Given the description of an element on the screen output the (x, y) to click on. 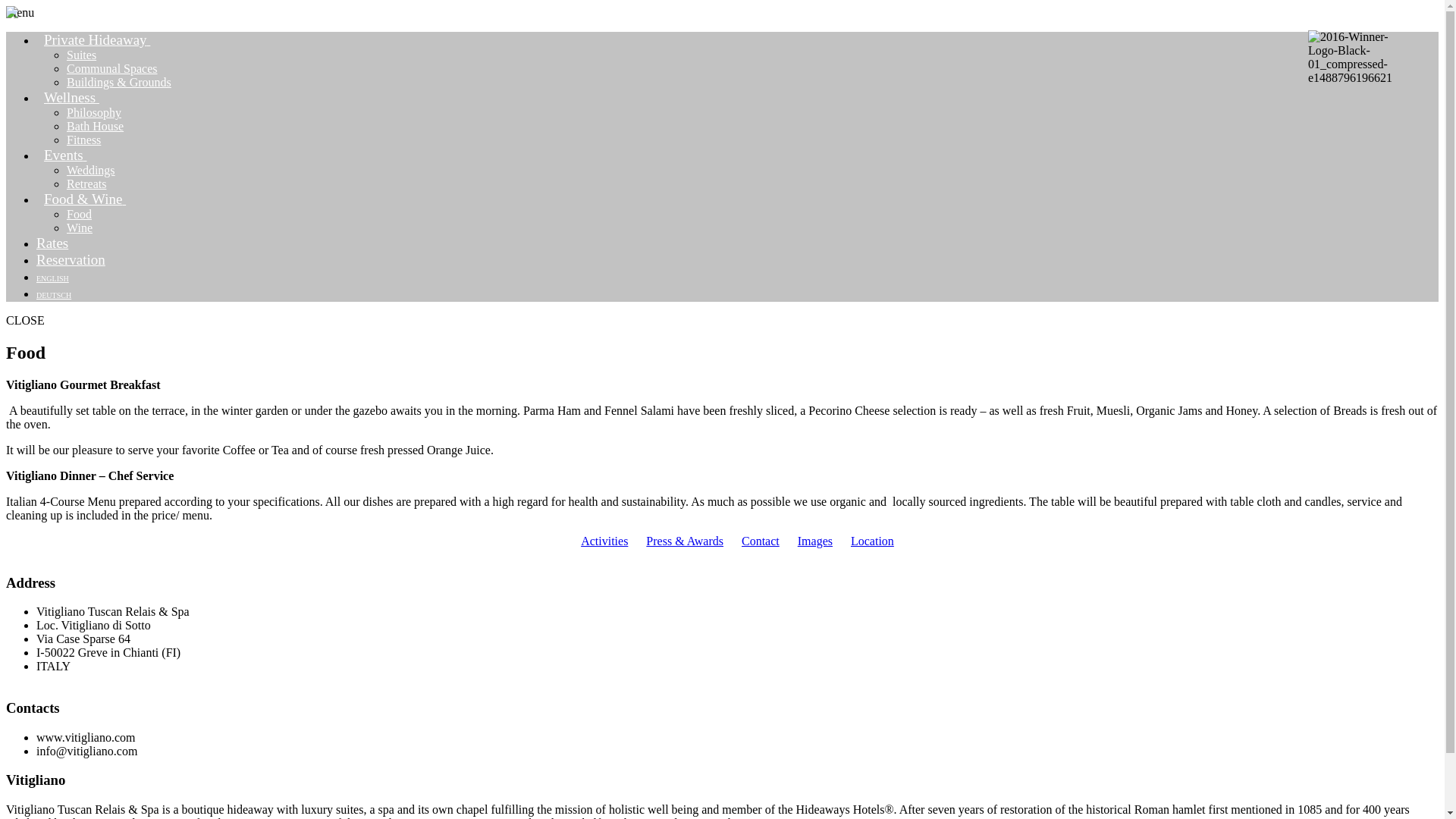
Private Hideaway (102, 39)
Philosophy (93, 112)
Retreats (86, 183)
ENGLISH (52, 276)
Bath House (94, 125)
Reservation (70, 259)
Food (78, 214)
DEUTSCH (53, 293)
Activities (603, 540)
Communal Spaces (111, 68)
Images (814, 540)
Fitness (83, 139)
Suites (81, 54)
Events (70, 154)
Wellness (76, 97)
